Given the description of an element on the screen output the (x, y) to click on. 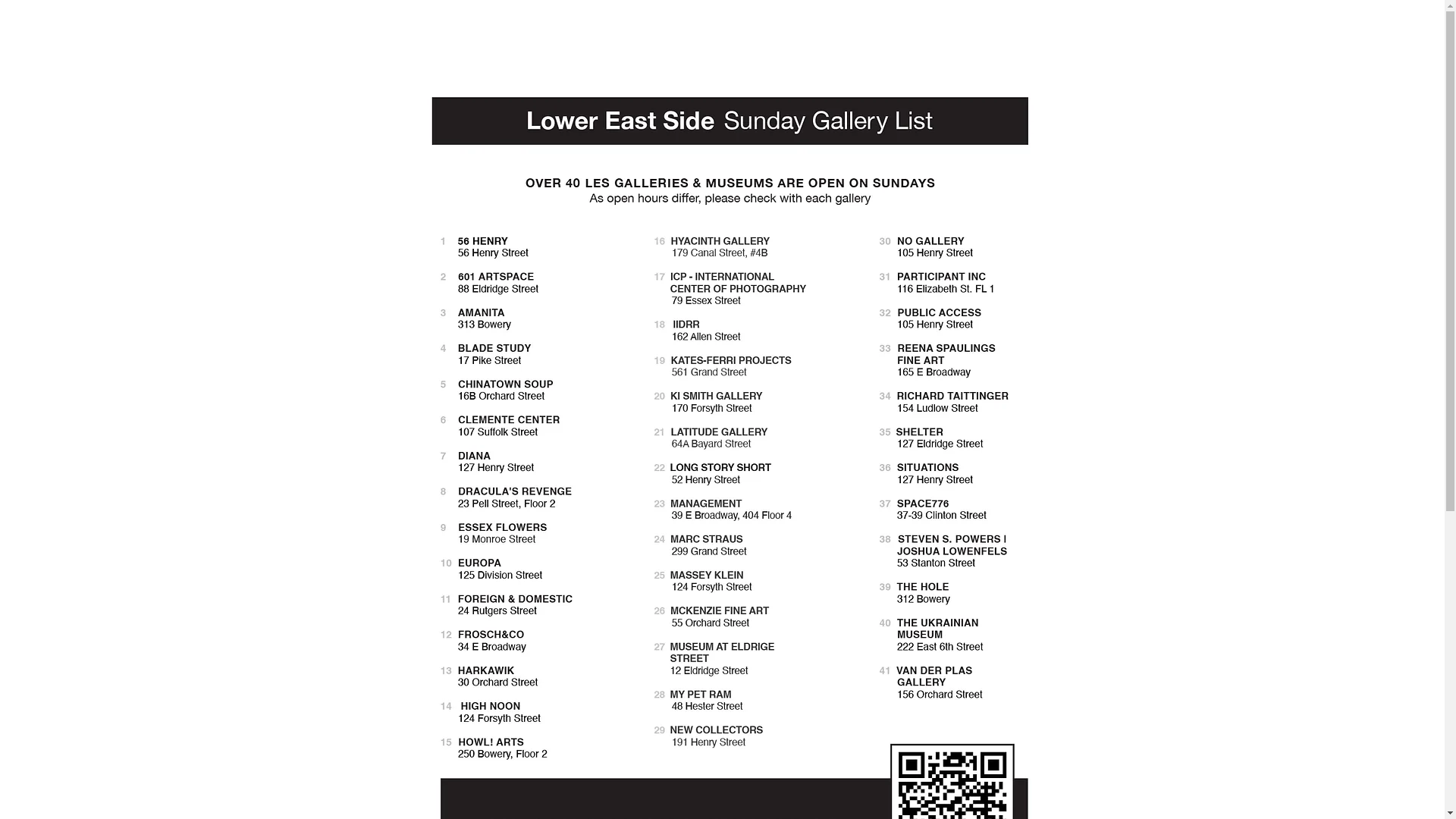
Contact (732, 19)
Home (462, 19)
Archives (973, 19)
Sundays (647, 19)
